Given the description of an element on the screen output the (x, y) to click on. 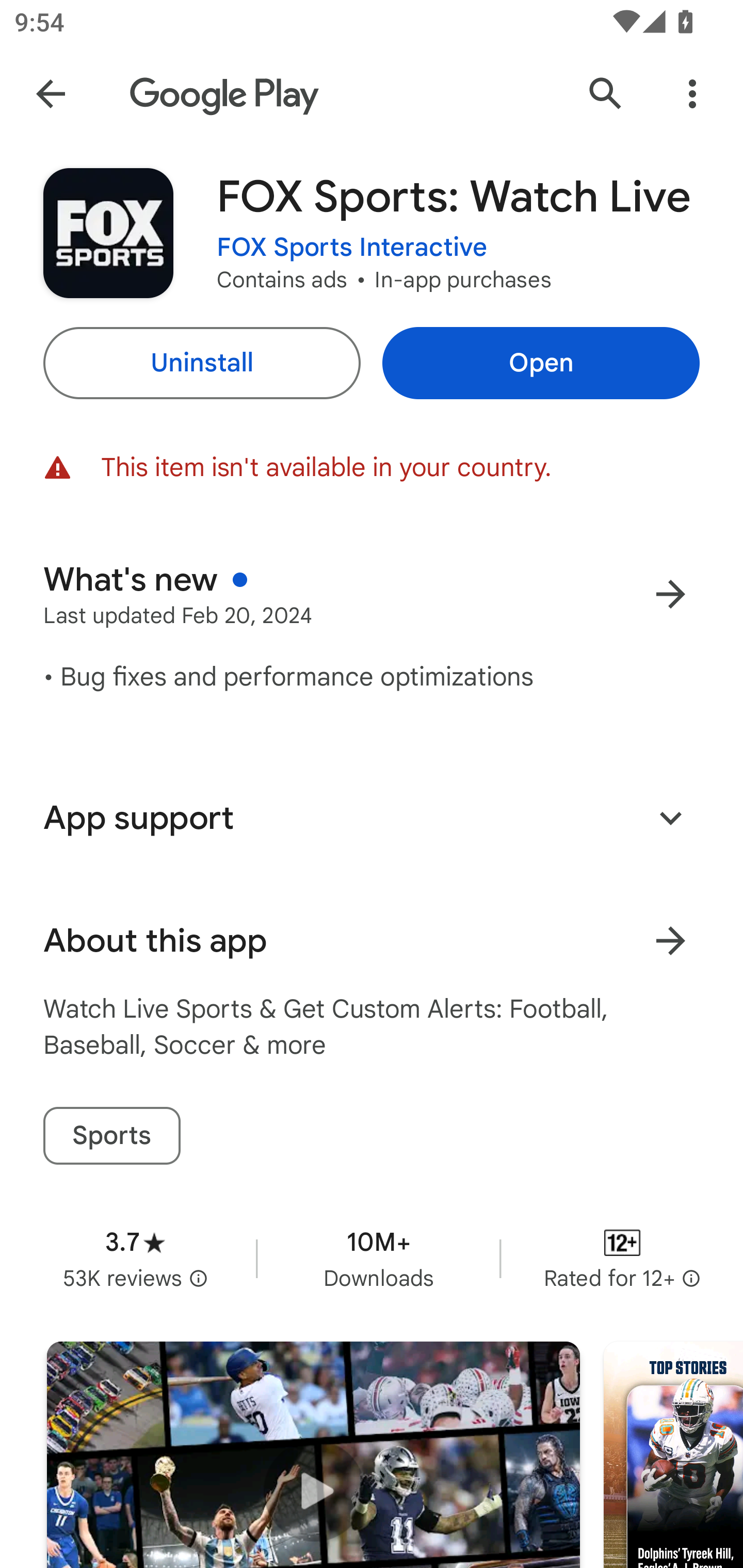
Navigate up (50, 93)
Search Google Play (605, 93)
More Options (692, 93)
FOX Sports Interactive (351, 247)
Uninstall (201, 362)
Open (540, 362)
More results for What's new (670, 594)
App support Expand (371, 817)
Expand (670, 817)
About this app Learn more About this app (371, 940)
Learn more About this app (670, 940)
Sports tag (111, 1135)
Average rating 3.7 stars in 53 thousand reviews (135, 1258)
Content rating Rated for 12+ (622, 1258)
Play trailer for "FOX Sports: Watch Live" (313, 1455)
